Given the description of an element on the screen output the (x, y) to click on. 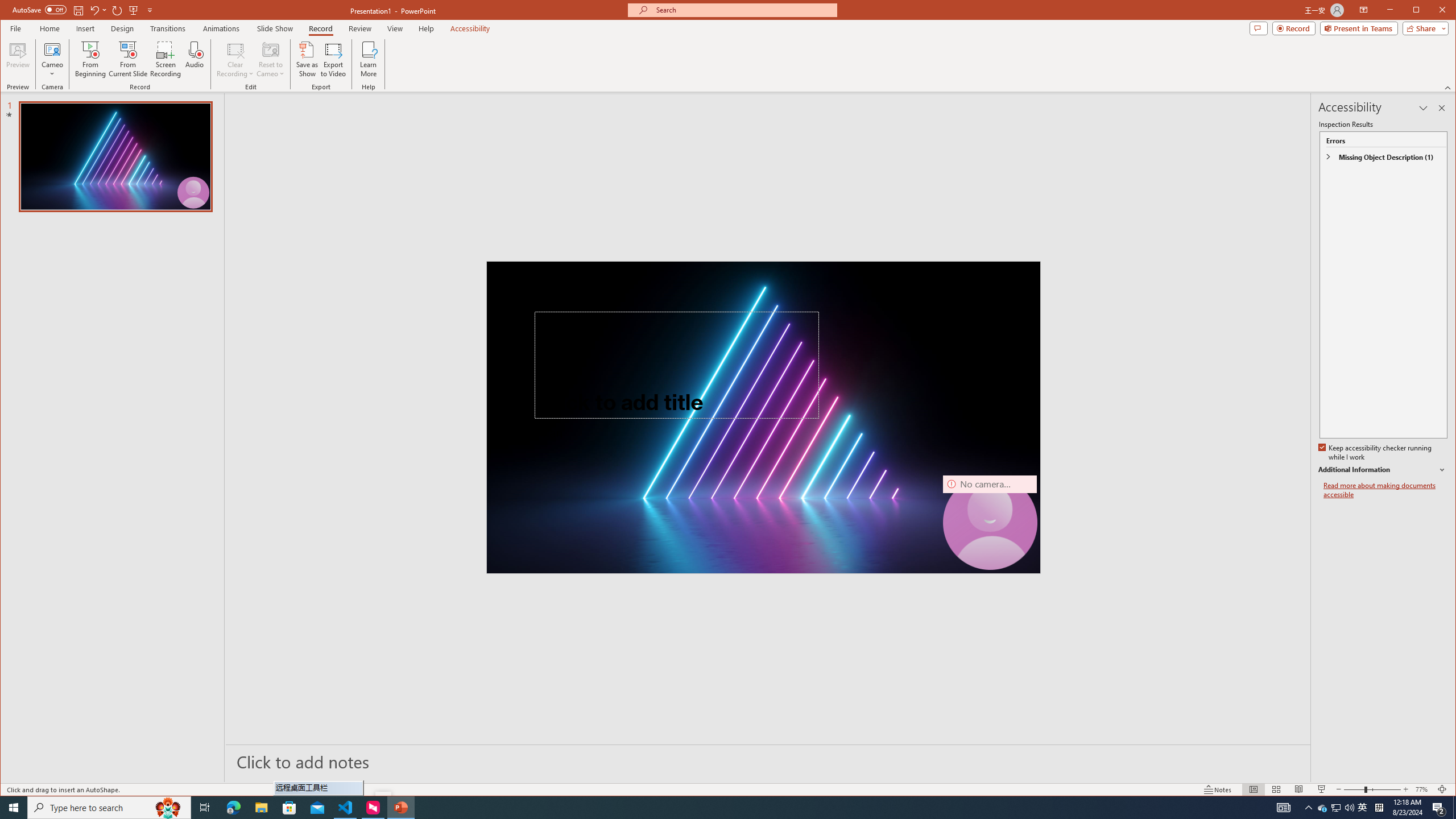
From Current Slide... (127, 59)
Reset to Cameo (269, 59)
Save as Show (307, 59)
